Given the description of an element on the screen output the (x, y) to click on. 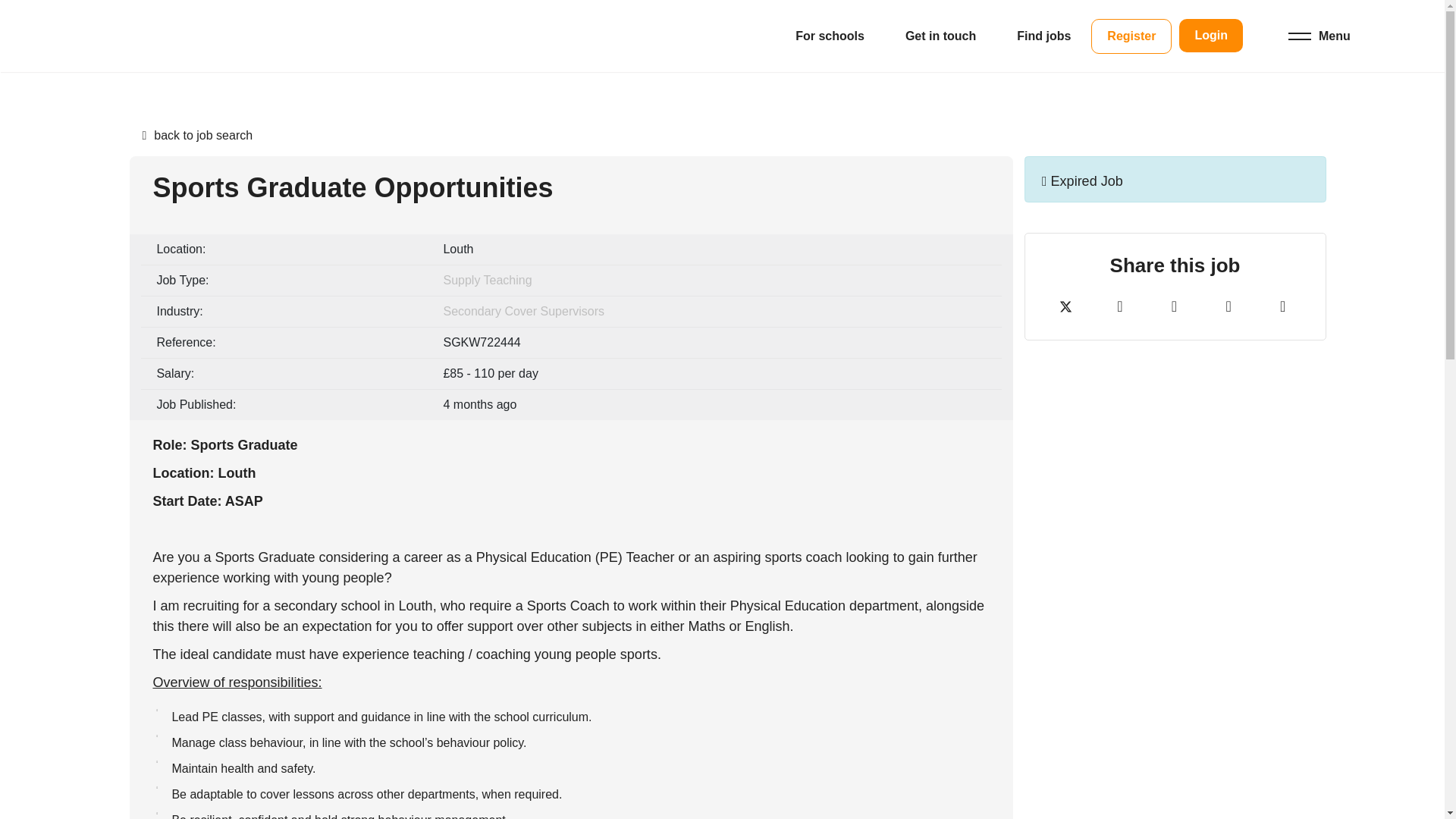
LinkedIn (1173, 307)
Protocol Education (150, 35)
Login (1211, 34)
Find jobs (1043, 36)
Get in touch (940, 36)
Go to the Homepage (150, 35)
Email (1228, 307)
Register (1131, 35)
Twitter (1065, 307)
Facebook (1119, 307)
